Given the description of an element on the screen output the (x, y) to click on. 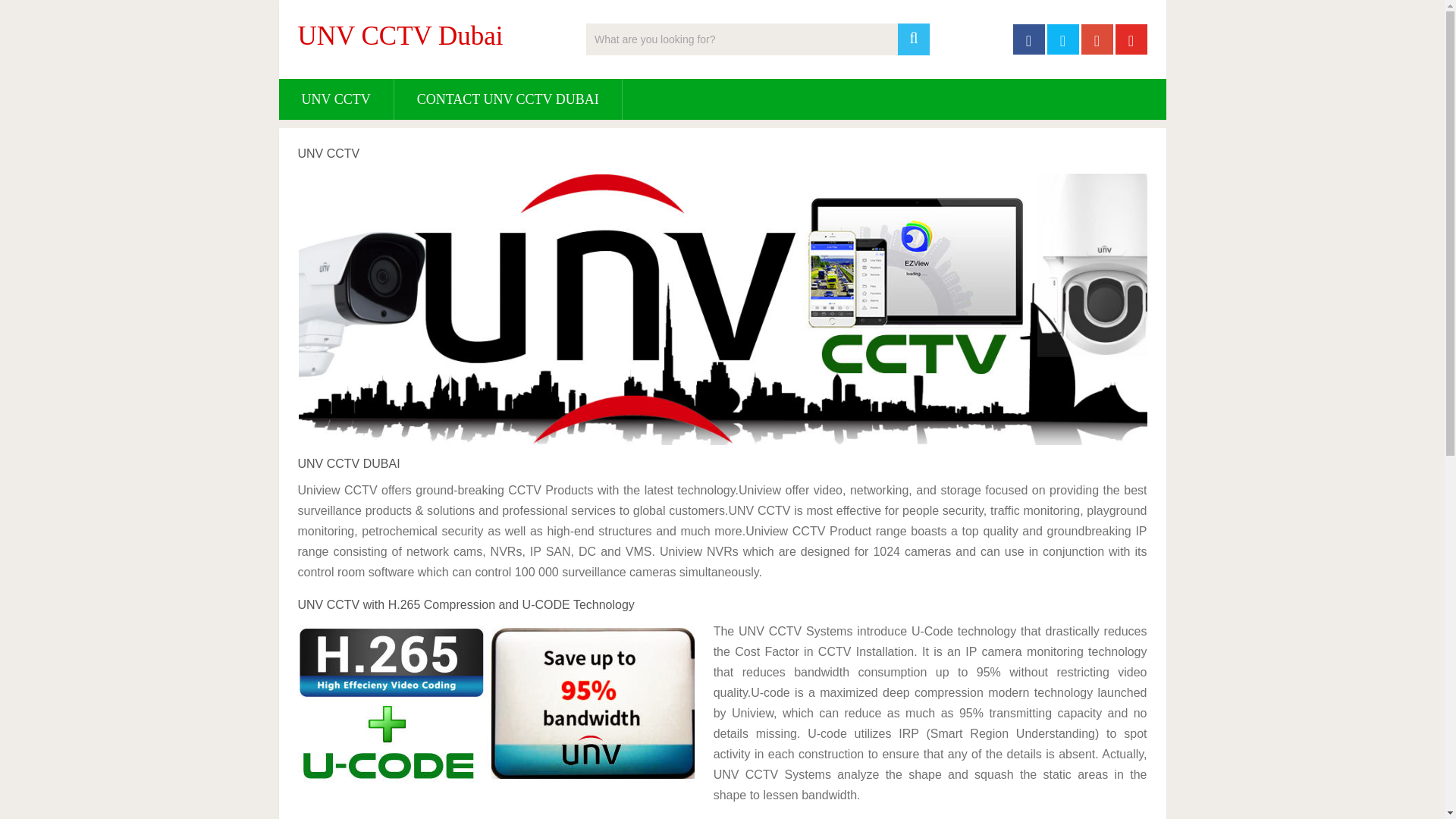
CONTACT UNV CCTV DUBAI (507, 98)
UNV CCTV (336, 98)
UNV CCTV Dubai (399, 35)
